Given the description of an element on the screen output the (x, y) to click on. 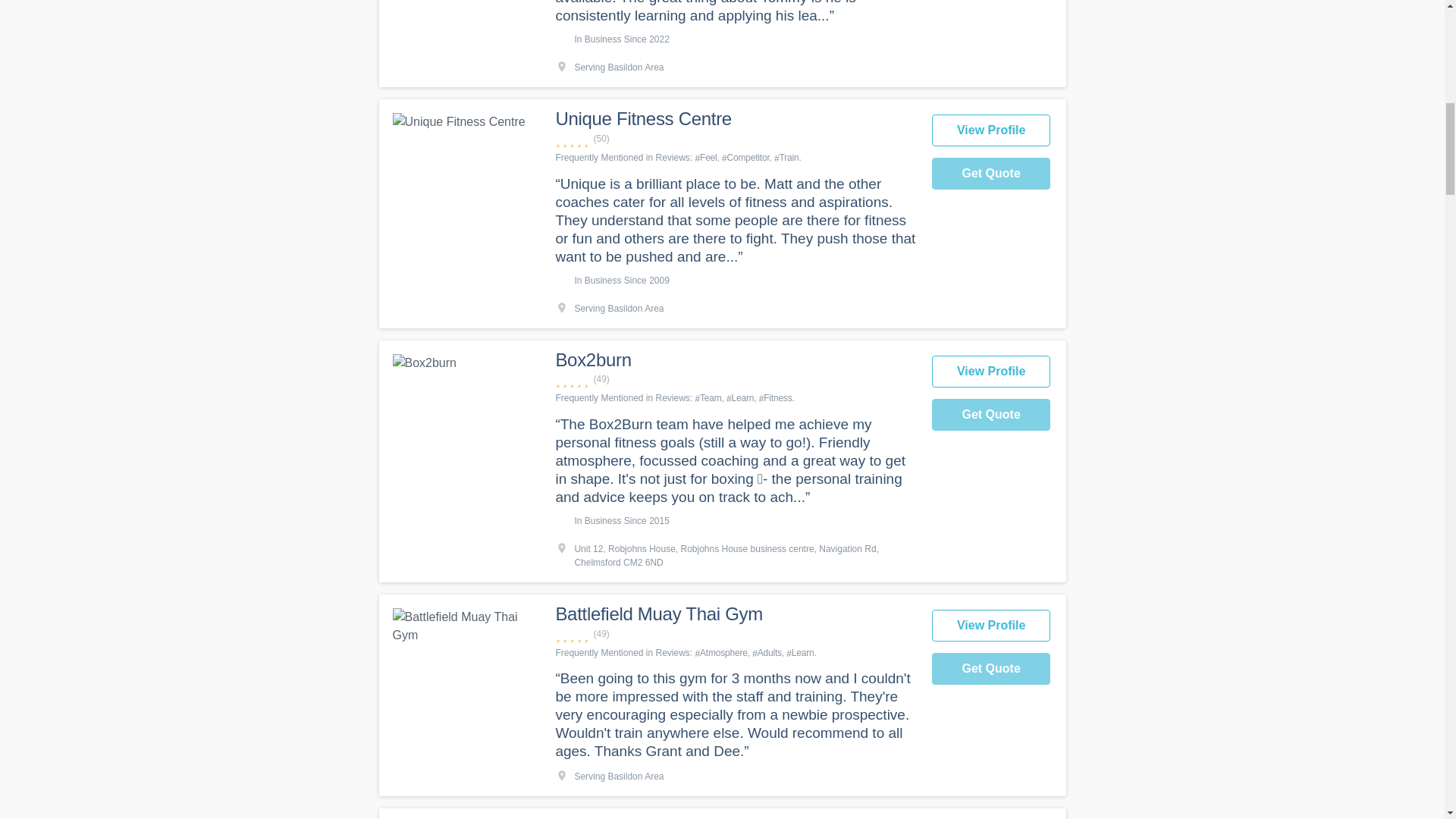
4.9 (734, 634)
Get Quote (991, 414)
5.0 (734, 138)
4.7 (734, 379)
Get Quote (991, 173)
